Given the description of an element on the screen output the (x, y) to click on. 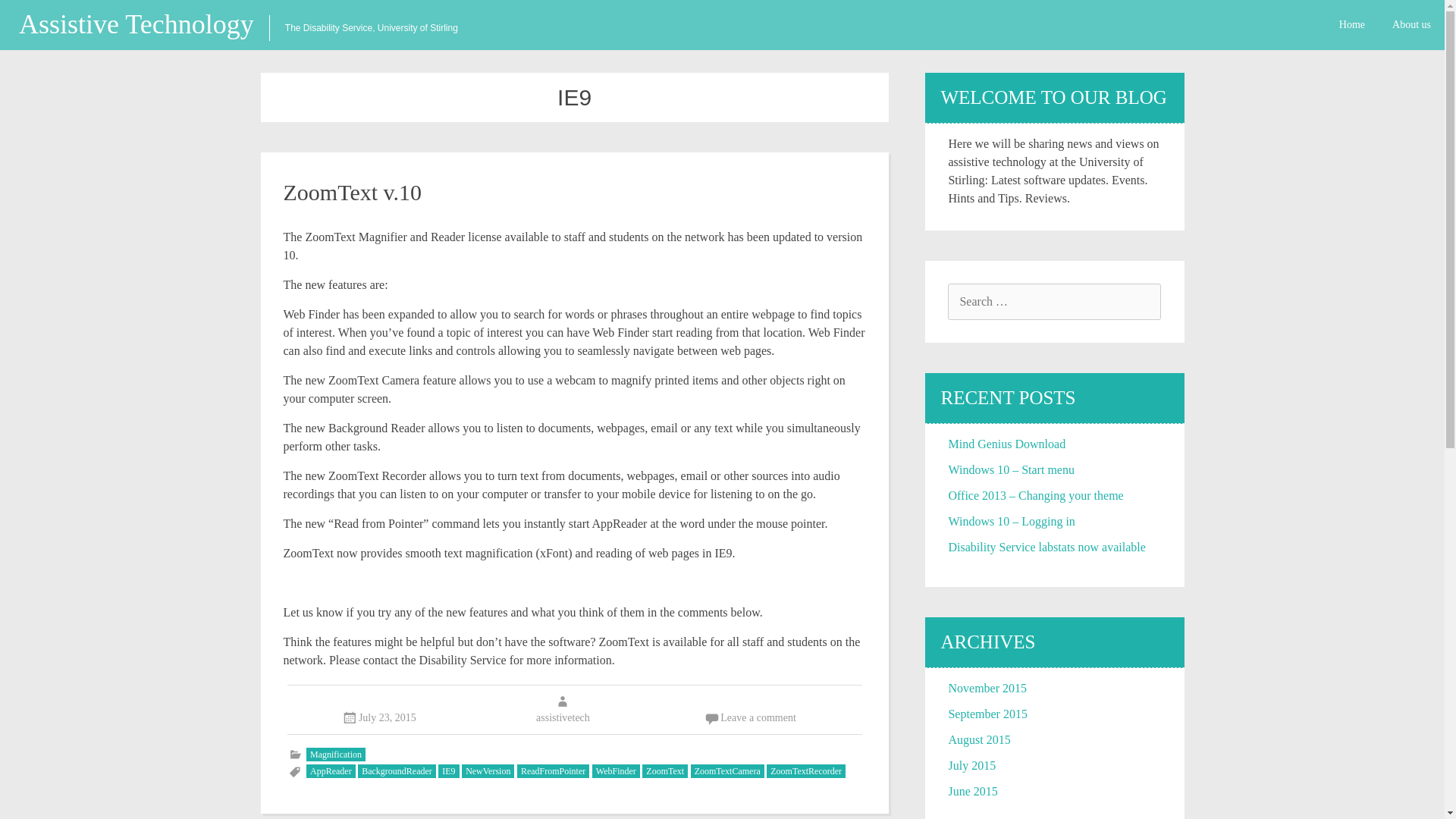
July 2015 (971, 765)
Assistive Technology (143, 24)
August 2015 (978, 739)
Magnification (335, 754)
ReadFromPointer (552, 771)
NewVersion (487, 771)
BackgroundReader (396, 771)
IE9 (448, 771)
Assistive Technology (143, 24)
Home (1351, 24)
